Given the description of an element on the screen output the (x, y) to click on. 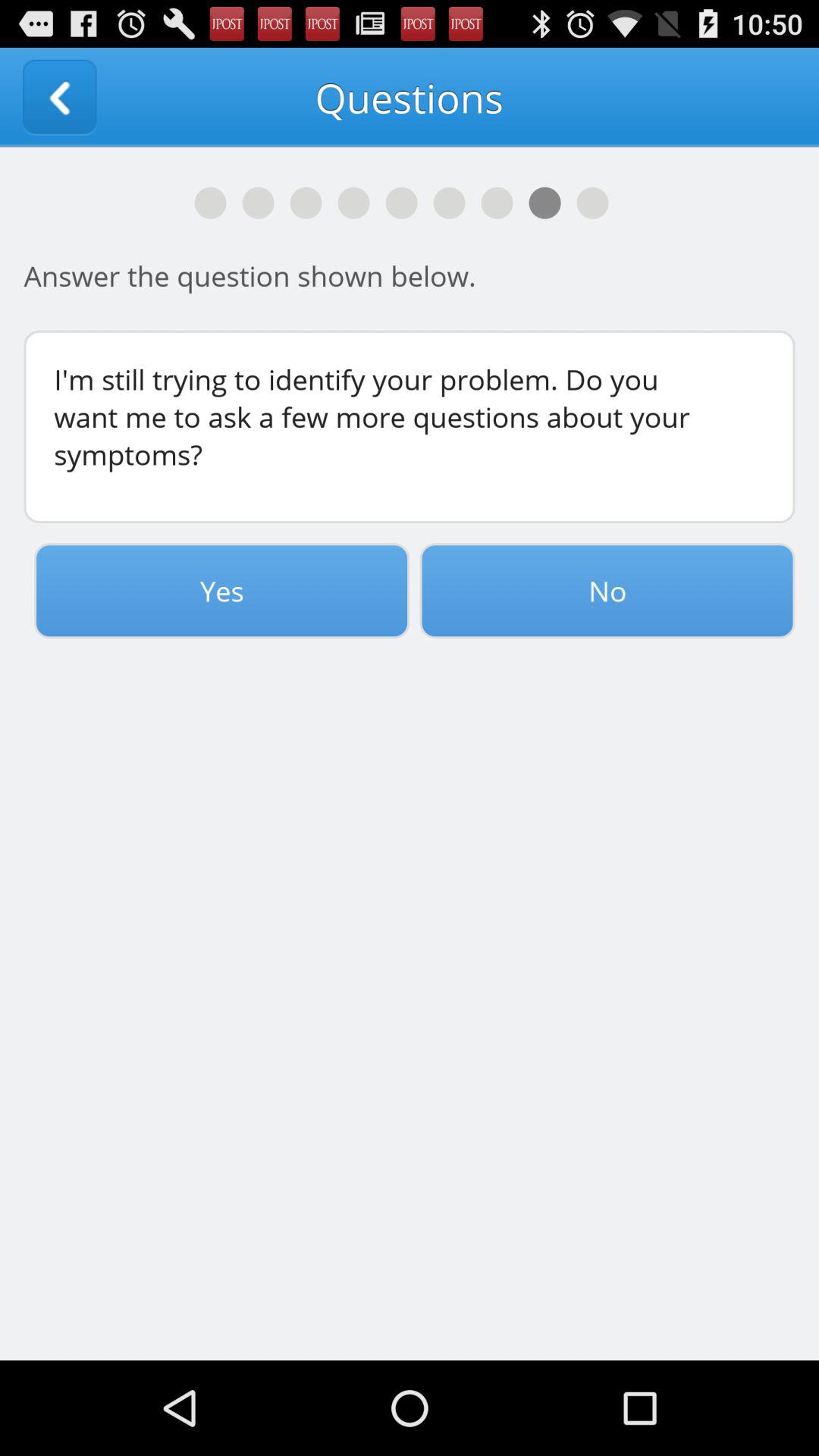
press the item next to the questions app (59, 97)
